Given the description of an element on the screen output the (x, y) to click on. 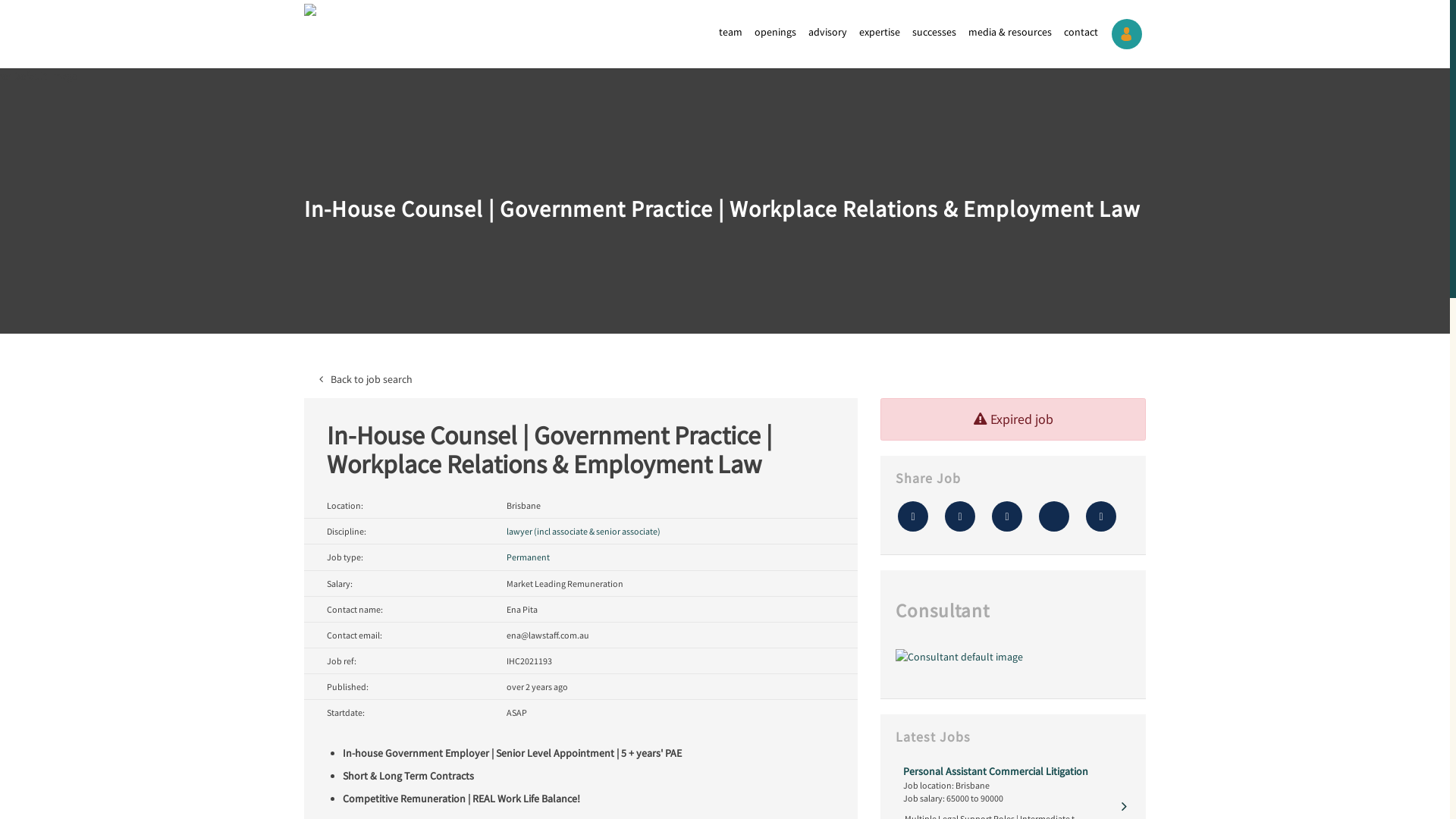
team Element type: text (730, 31)
send in Whatsapp Element type: hover (912, 516)
Permanent Element type: text (527, 556)
Tweet this Element type: hover (959, 516)
successes Element type: text (934, 31)
expertise Element type: text (879, 31)
openings Element type: text (775, 31)
Back to job search Element type: text (724, 378)
lawyer (incl associate & senior associate) Element type: text (583, 530)
advisory Element type: text (827, 31)
share on LinkedIn Element type: hover (1053, 516)
contact Element type: text (1080, 31)
share on Facebook Element type: hover (1006, 516)
Email Element type: hover (1100, 516)
media & resources Element type: text (1009, 31)
